Given the description of an element on the screen output the (x, y) to click on. 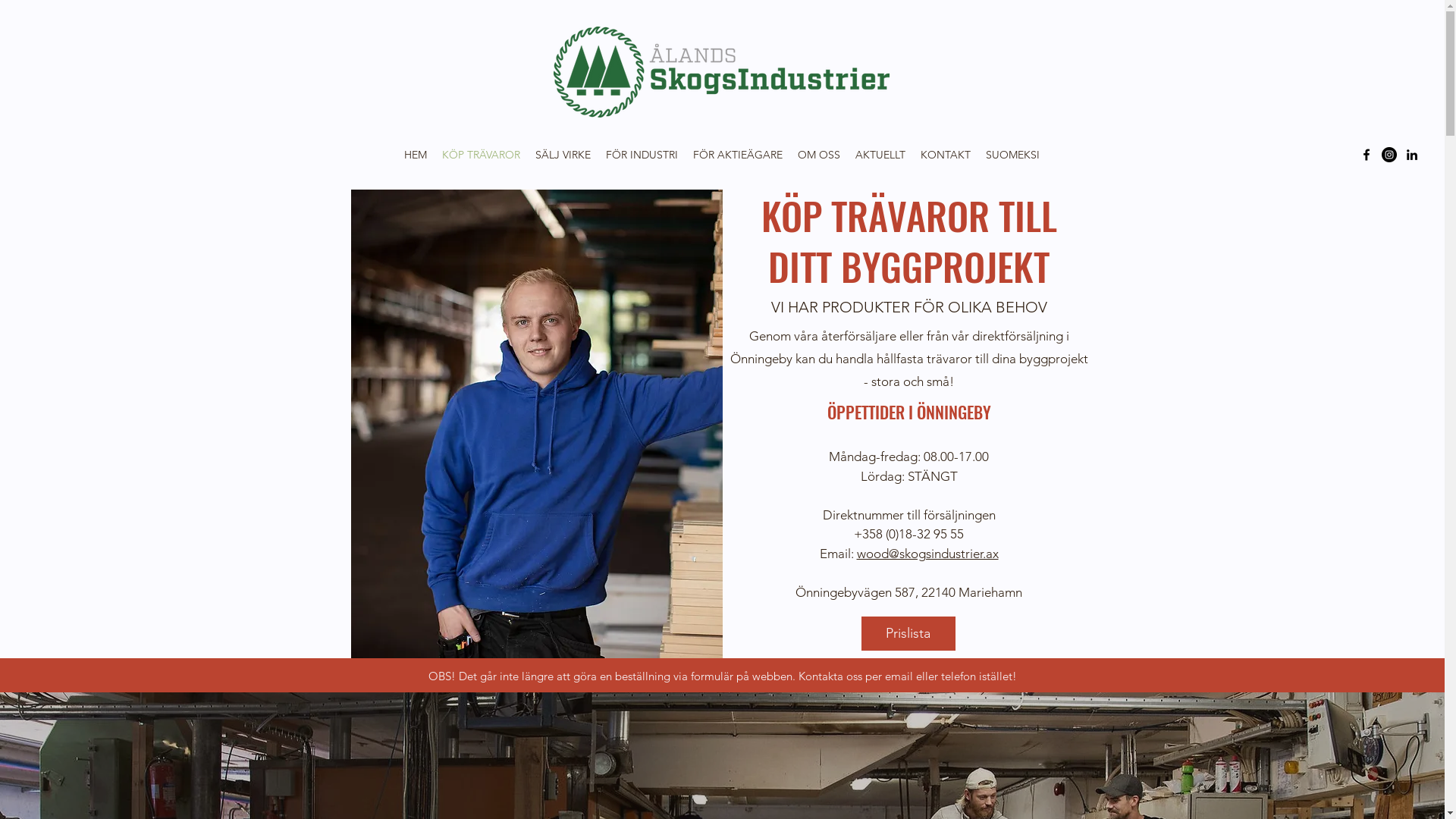
KONTAKT Element type: text (945, 154)
OM OSS Element type: text (818, 154)
+358 (0)18-32 95 55 Element type: text (908, 533)
AKTUELLT Element type: text (880, 154)
wood@skogsindustrier.ax Element type: text (927, 553)
Prislista Element type: text (908, 633)
SUOMEKSI Element type: text (1012, 154)
HEM Element type: text (415, 154)
